Given the description of an element on the screen output the (x, y) to click on. 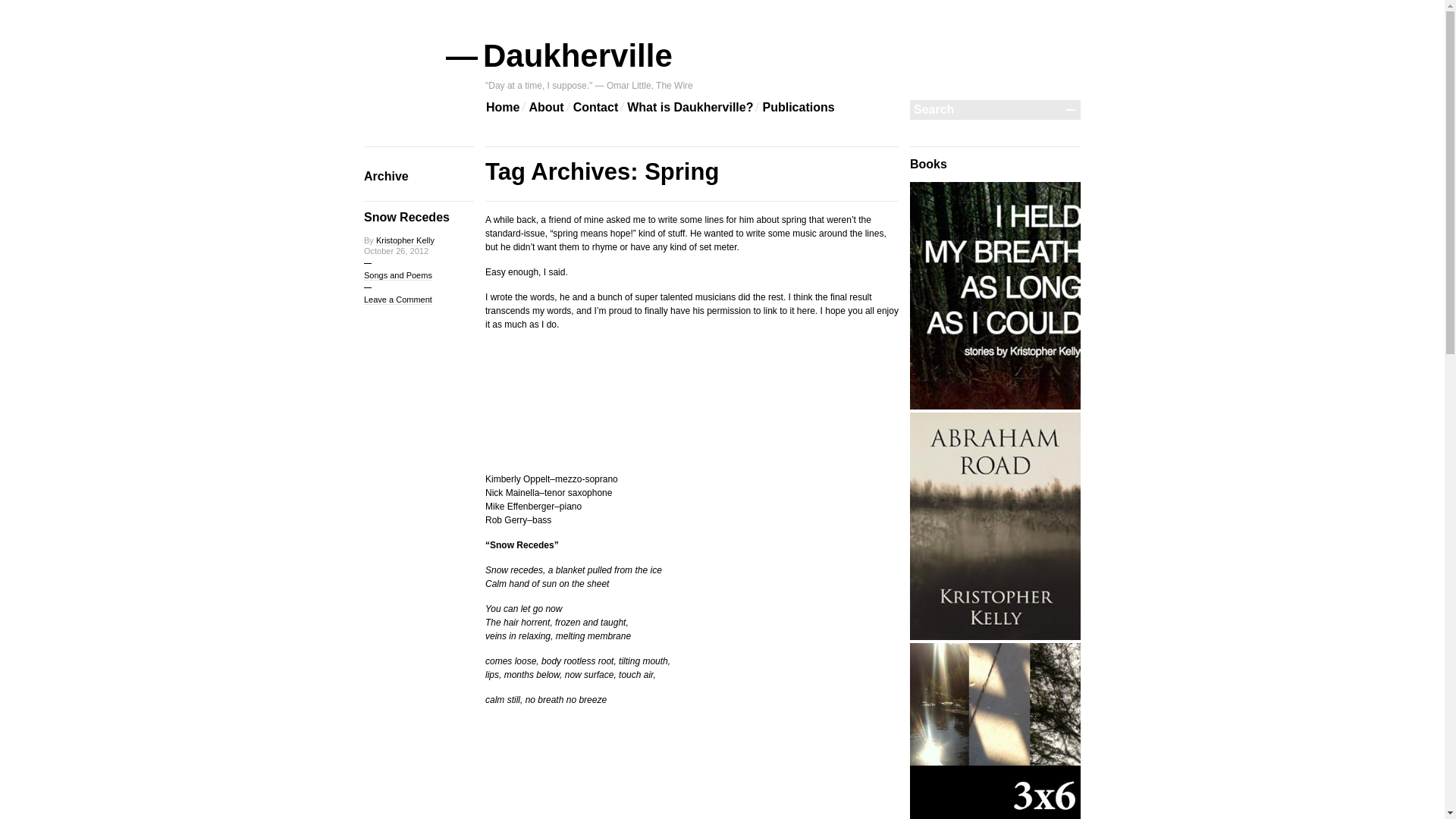
Search (986, 109)
Permalink to Snow Recedes (406, 216)
Home (502, 107)
October 26, 2012 (396, 250)
About (545, 107)
Songs and Poems (398, 275)
Snow Recedes (406, 216)
What is Daukherville? (689, 107)
Contact (595, 107)
Daukherville (578, 55)
Publications (797, 107)
Kristopher Kelly (404, 240)
View all posts by Kristopher Kelly (404, 240)
Leave a Comment (398, 299)
